Given the description of an element on the screen output the (x, y) to click on. 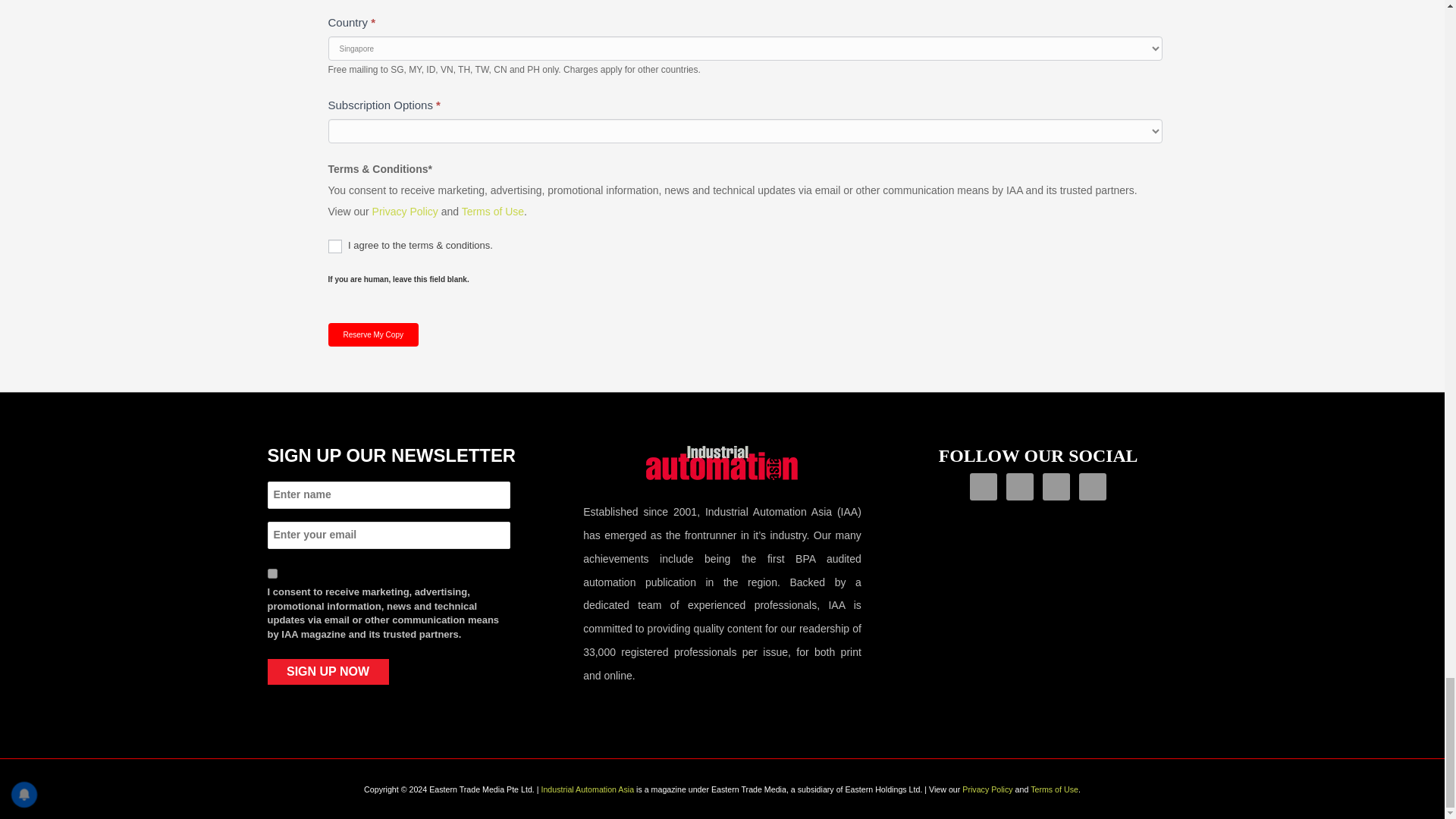
SIGN UP NOW (327, 671)
true (271, 573)
